Given the description of an element on the screen output the (x, y) to click on. 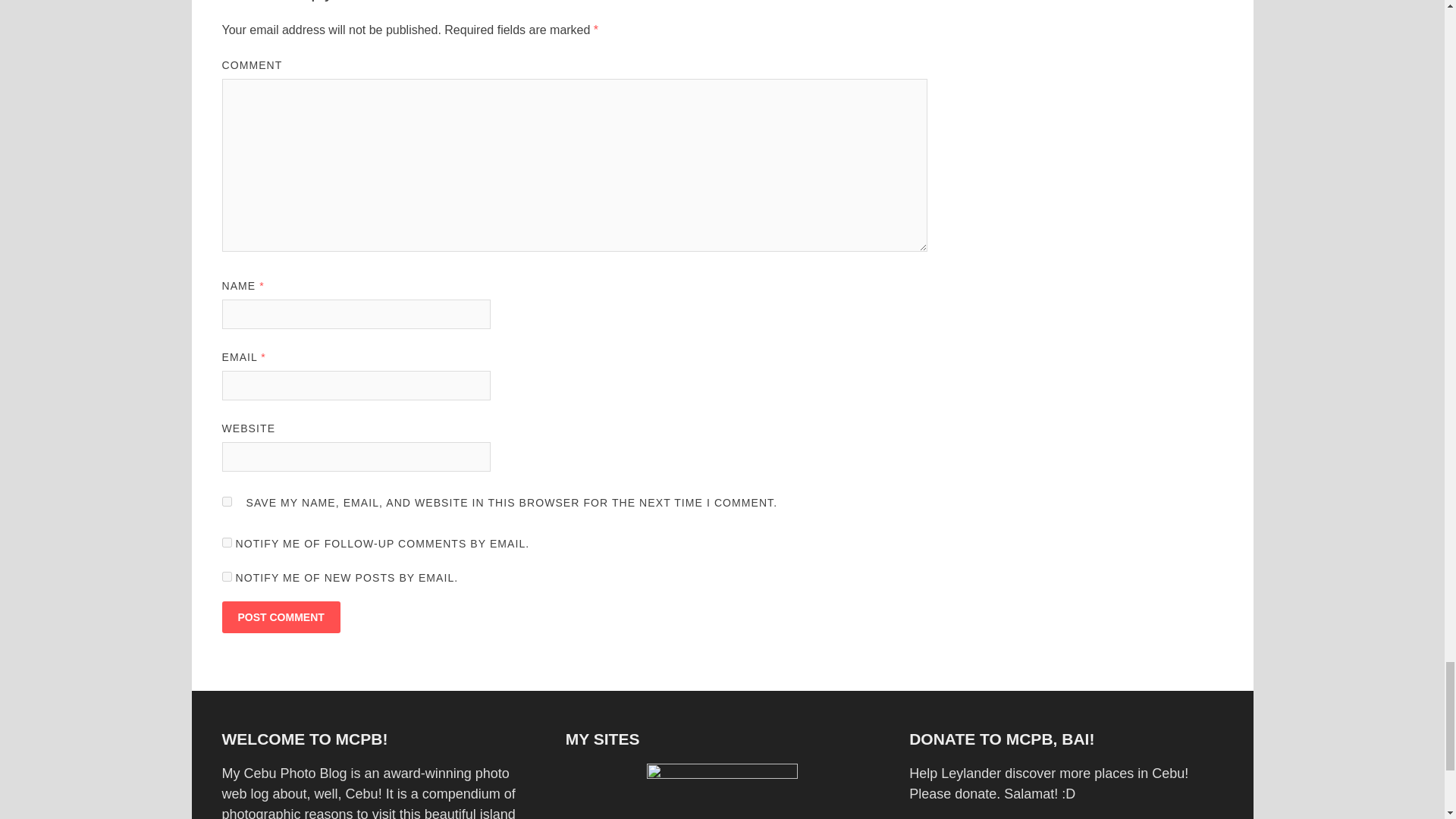
Post Comment (280, 617)
yes (226, 501)
subscribe (226, 542)
subscribe (226, 576)
